Given the description of an element on the screen output the (x, y) to click on. 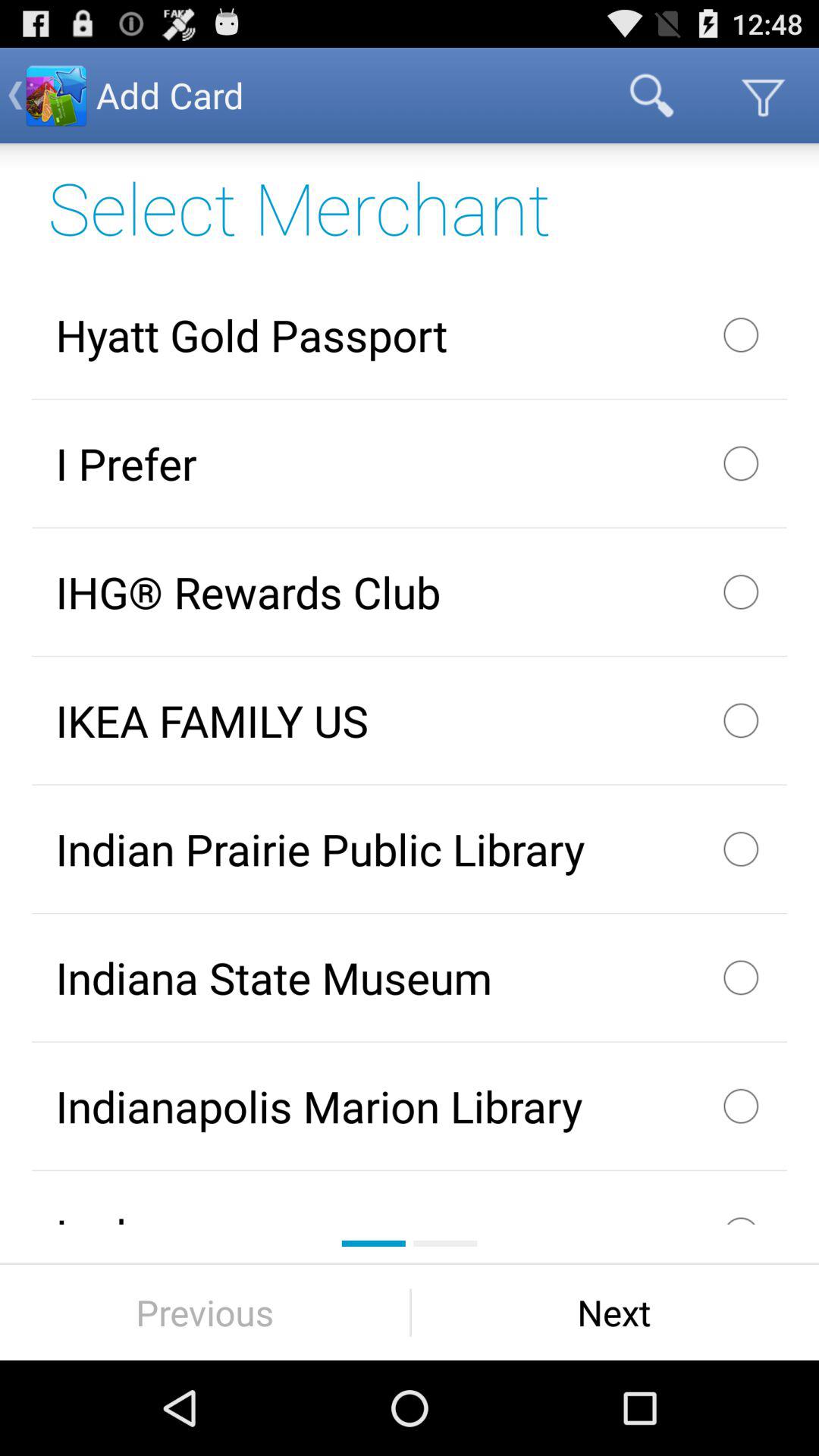
turn off the checkbox above ikea family us item (409, 591)
